Given the description of an element on the screen output the (x, y) to click on. 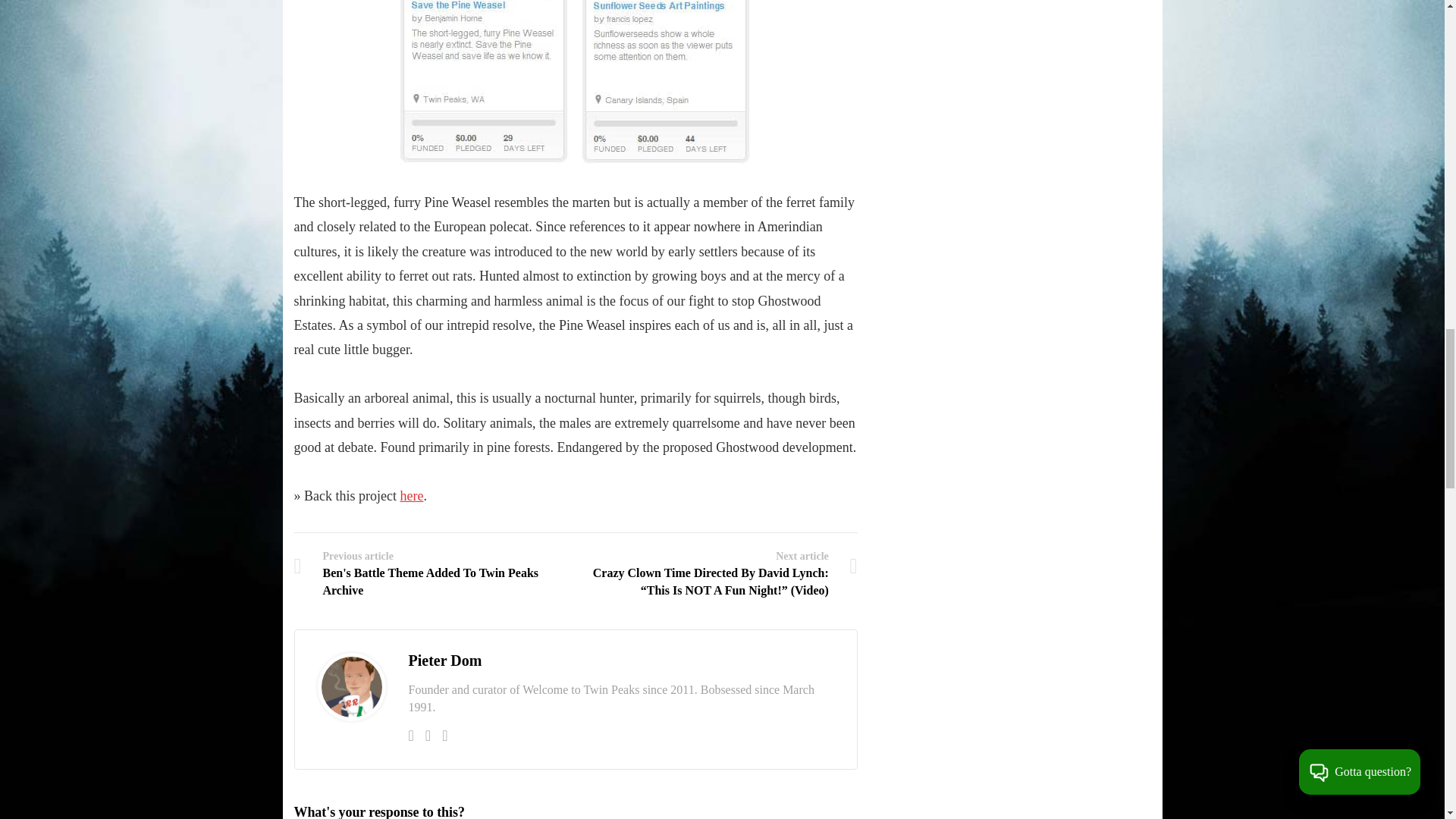
Pieter Dom (444, 660)
here (410, 495)
